Given the description of an element on the screen output the (x, y) to click on. 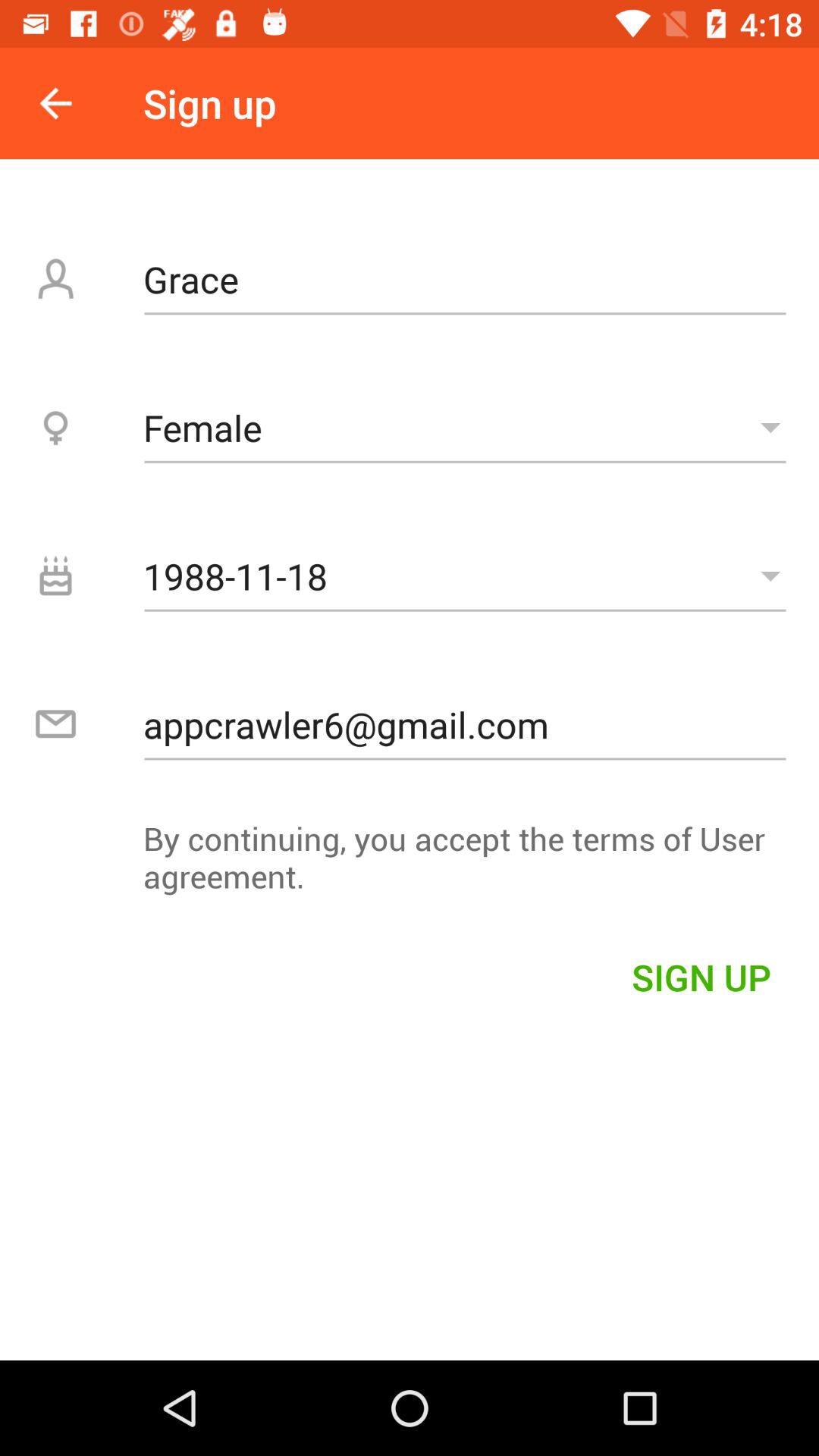
open icon below sign up (465, 278)
